Given the description of an element on the screen output the (x, y) to click on. 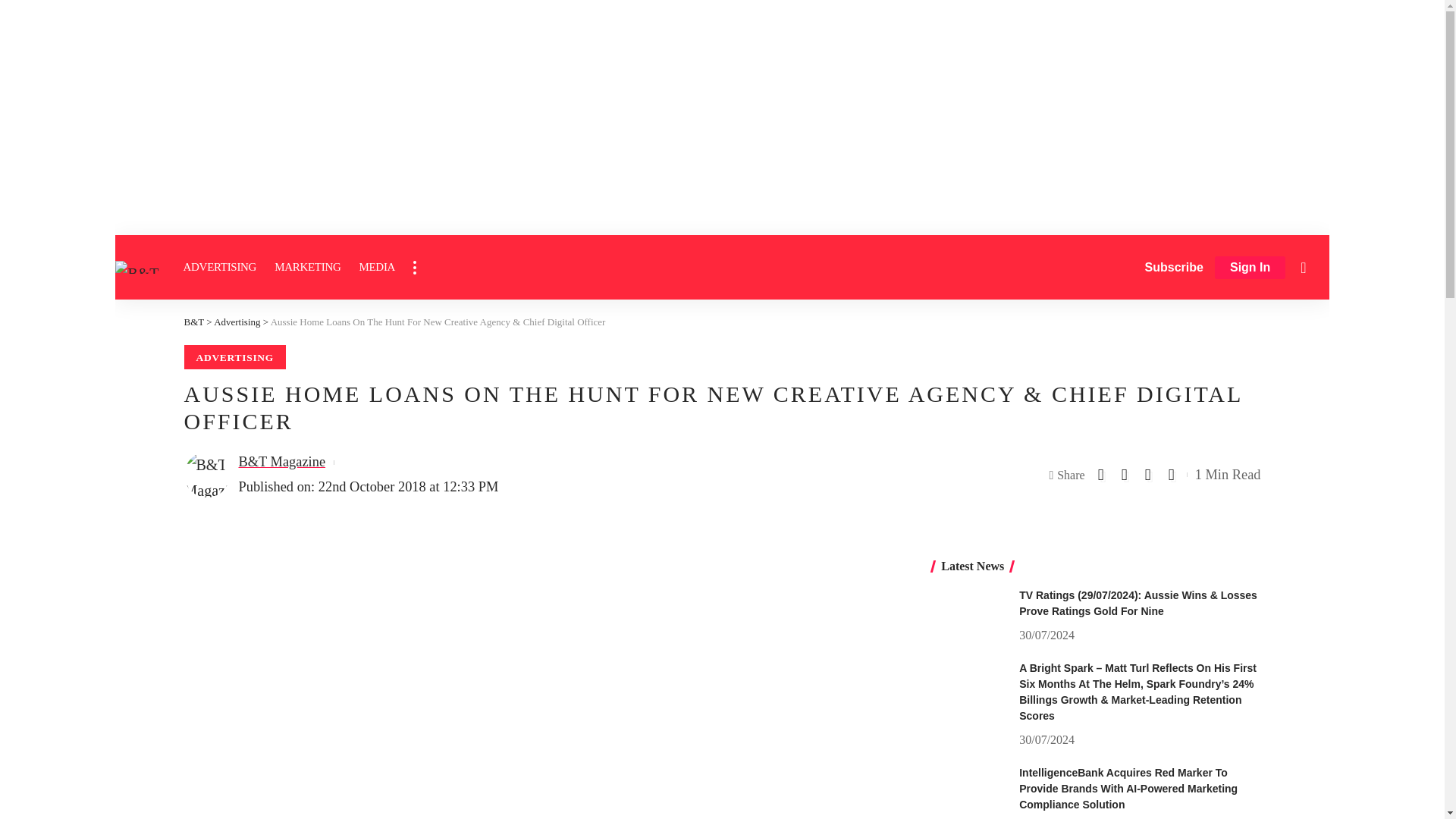
Subscribe (1174, 267)
ADVERTISING (220, 267)
Go to the Advertising Category archives. (237, 321)
MARKETING (306, 267)
Sign In (1249, 267)
